Given the description of an element on the screen output the (x, y) to click on. 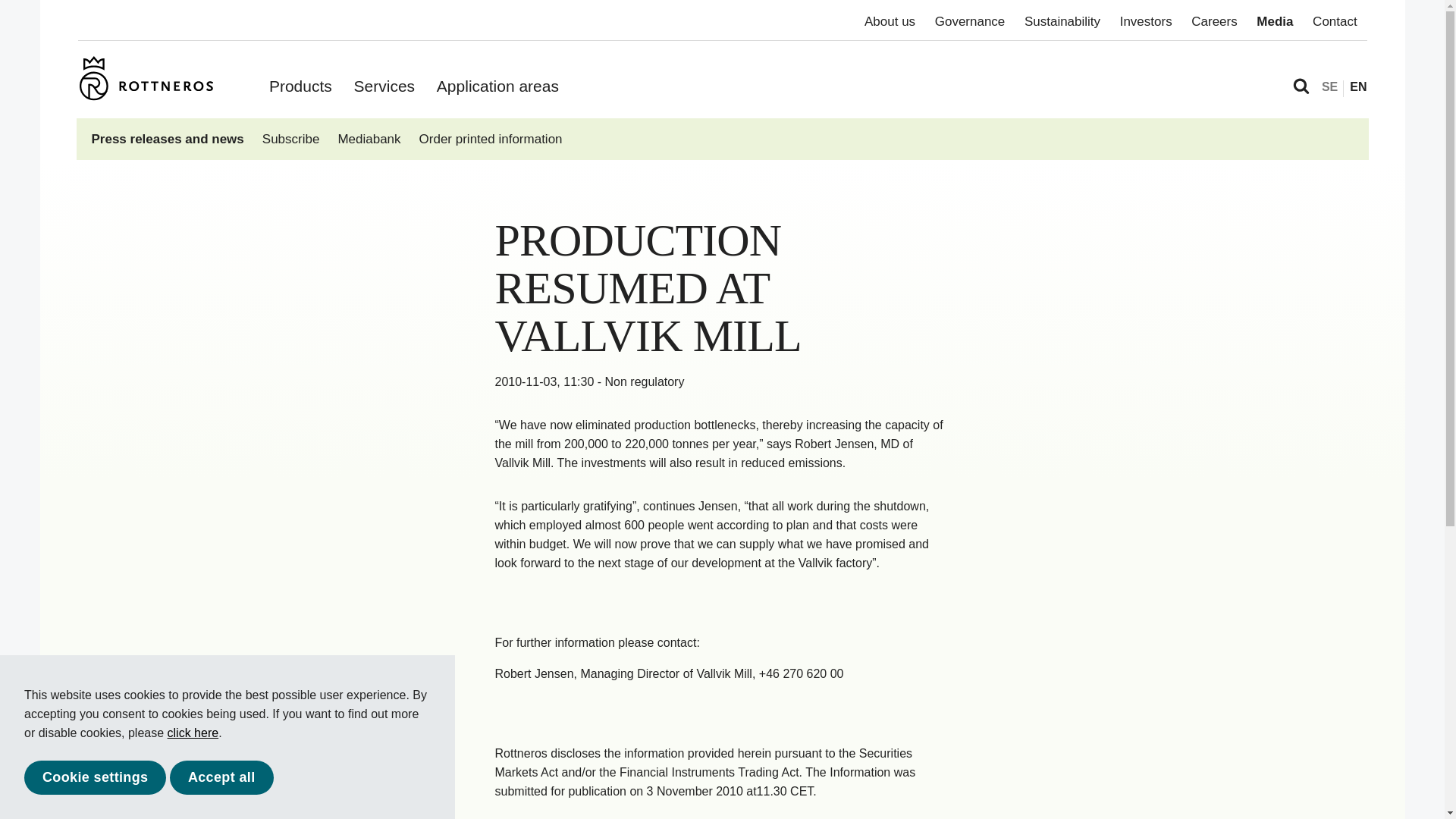
Products (300, 85)
About us (889, 21)
Services (383, 85)
Application areas (497, 85)
